Given the description of an element on the screen output the (x, y) to click on. 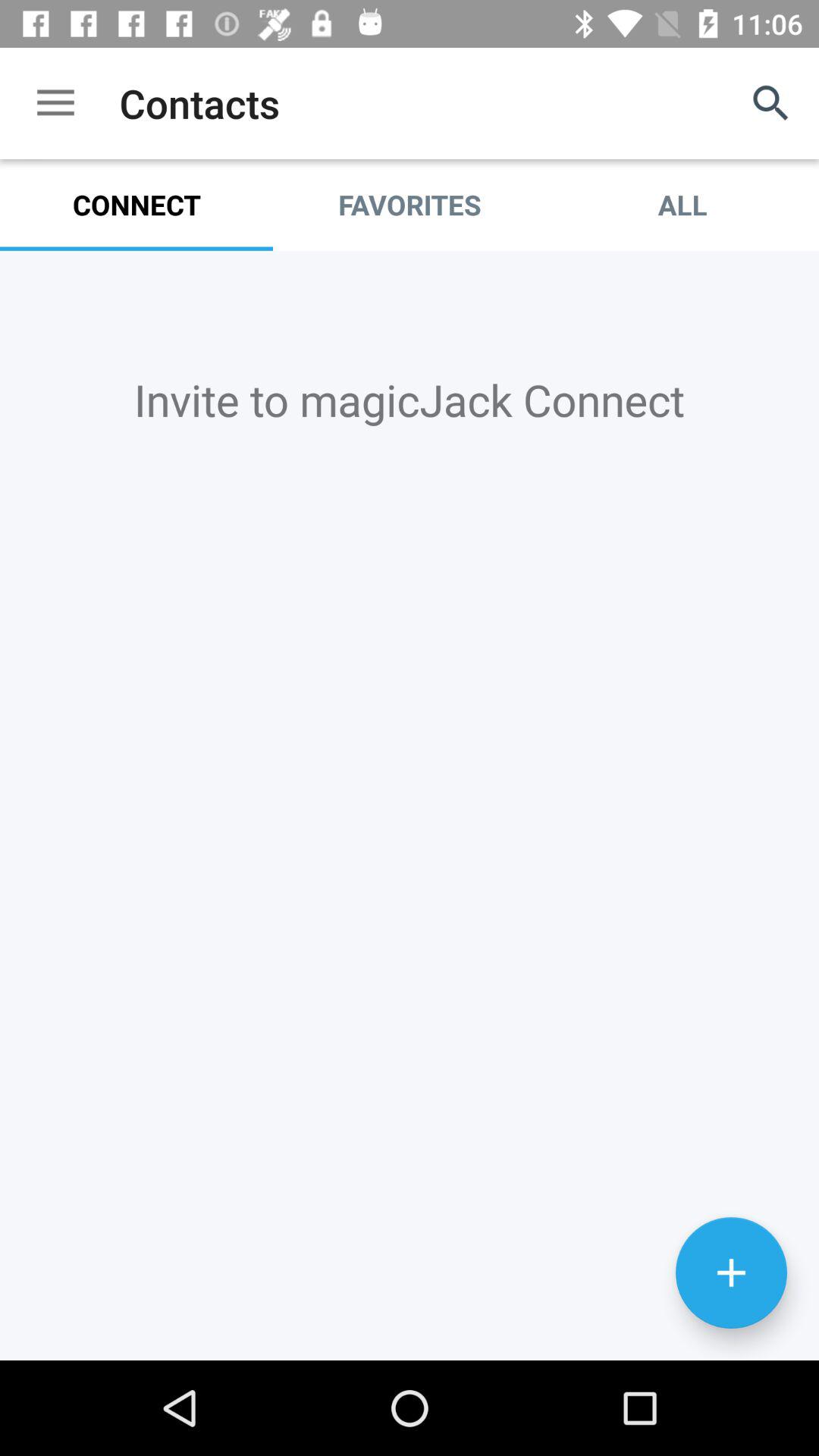
add connection (731, 1272)
